Given the description of an element on the screen output the (x, y) to click on. 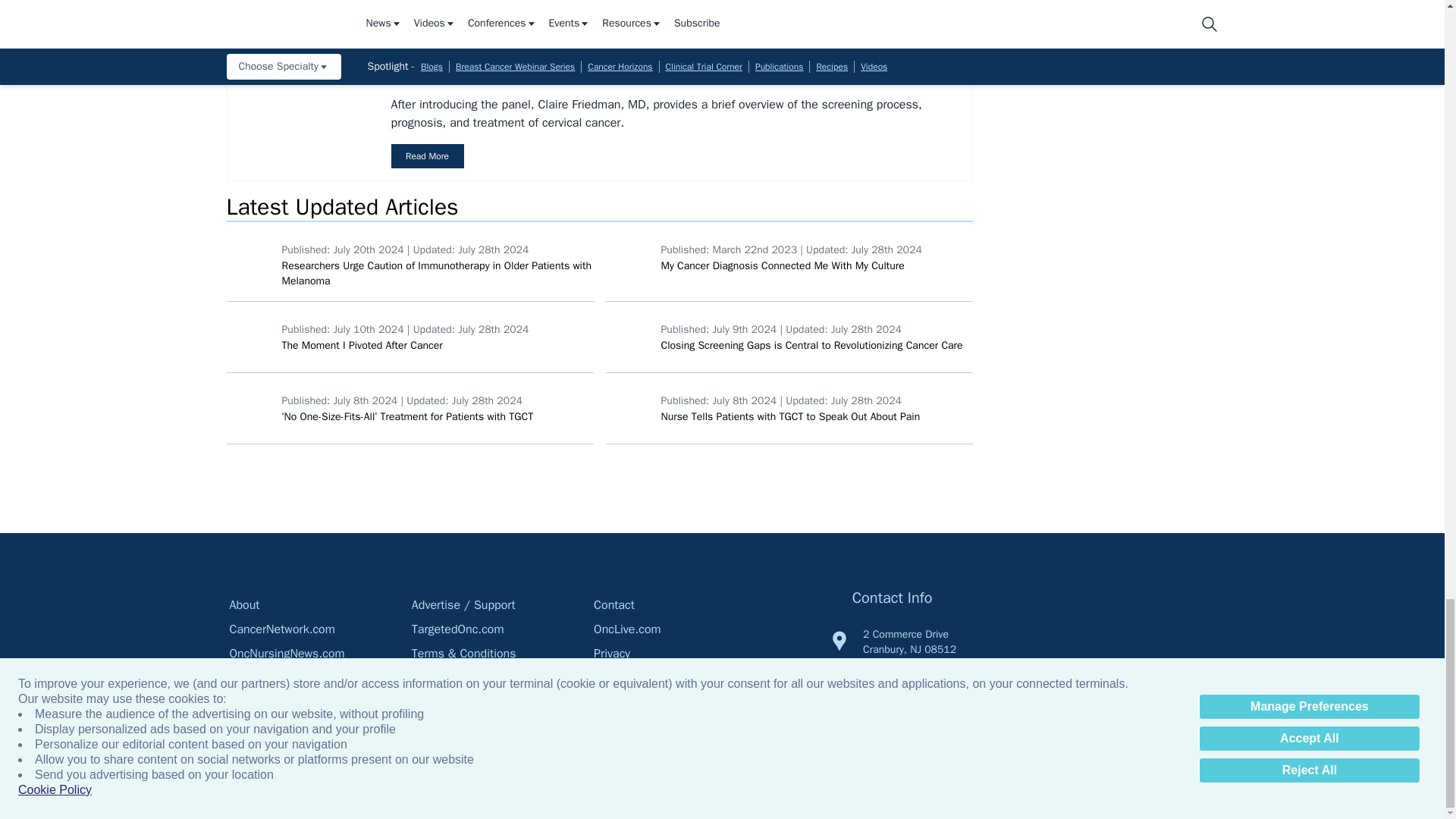
The Moment I Pivoted After Cancer (250, 336)
Image of a person with dark spots on their back. (250, 257)
Nurse Tells Patients with TGCT to Speak Out About Pain (629, 407)
